Given the description of an element on the screen output the (x, y) to click on. 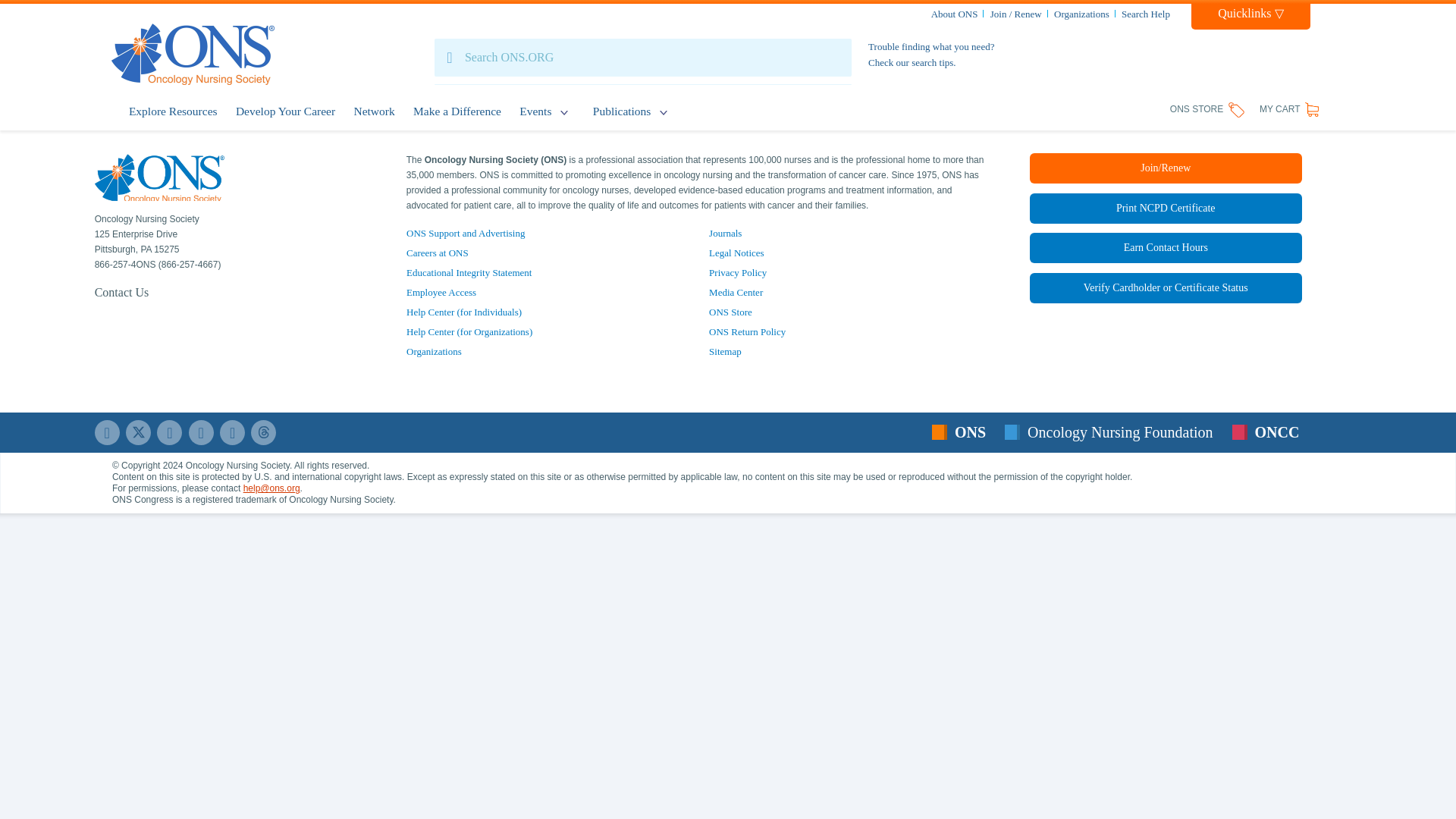
About ONS (954, 13)
ONS Logo (159, 178)
linkedin (169, 432)
Licensing Opportunities (433, 351)
Help Center (1165, 287)
Search Help (1145, 13)
facebook (106, 432)
Organizations (1081, 13)
Check our search tips. (911, 61)
Quicklinks (1250, 16)
Trouble finding what you need? (930, 46)
ONS Homepage (193, 54)
twitter (138, 432)
